Given the description of an element on the screen output the (x, y) to click on. 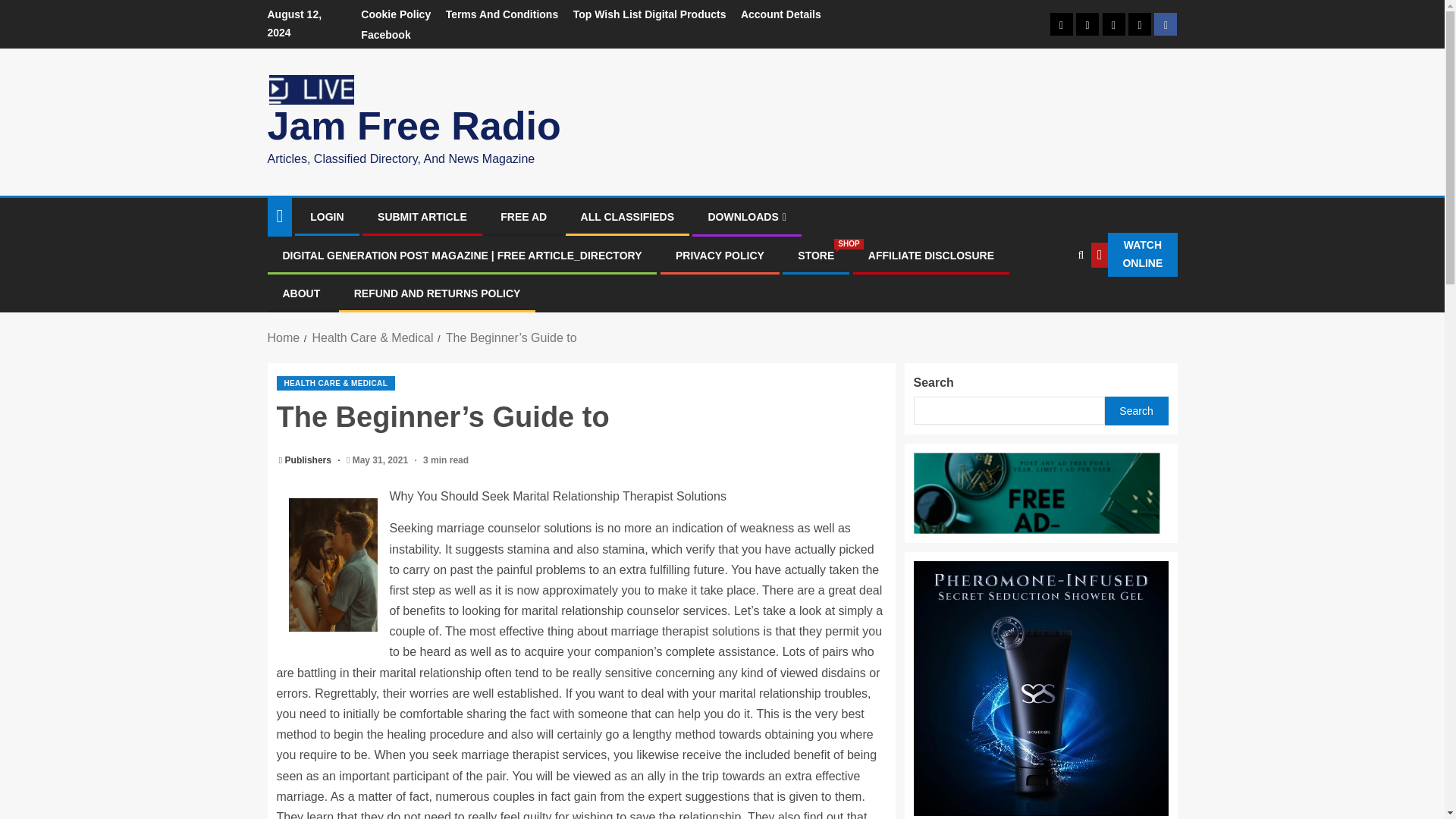
Jam Free Radio (413, 126)
PRIVACY POLICY (719, 255)
Account Details (781, 14)
ALL CLASSIFIEDS (627, 216)
Search (1048, 300)
Publishers (309, 460)
REFUND AND RETURNS POLICY (437, 293)
ABOUT (301, 293)
Facebook (385, 34)
